Given the description of an element on the screen output the (x, y) to click on. 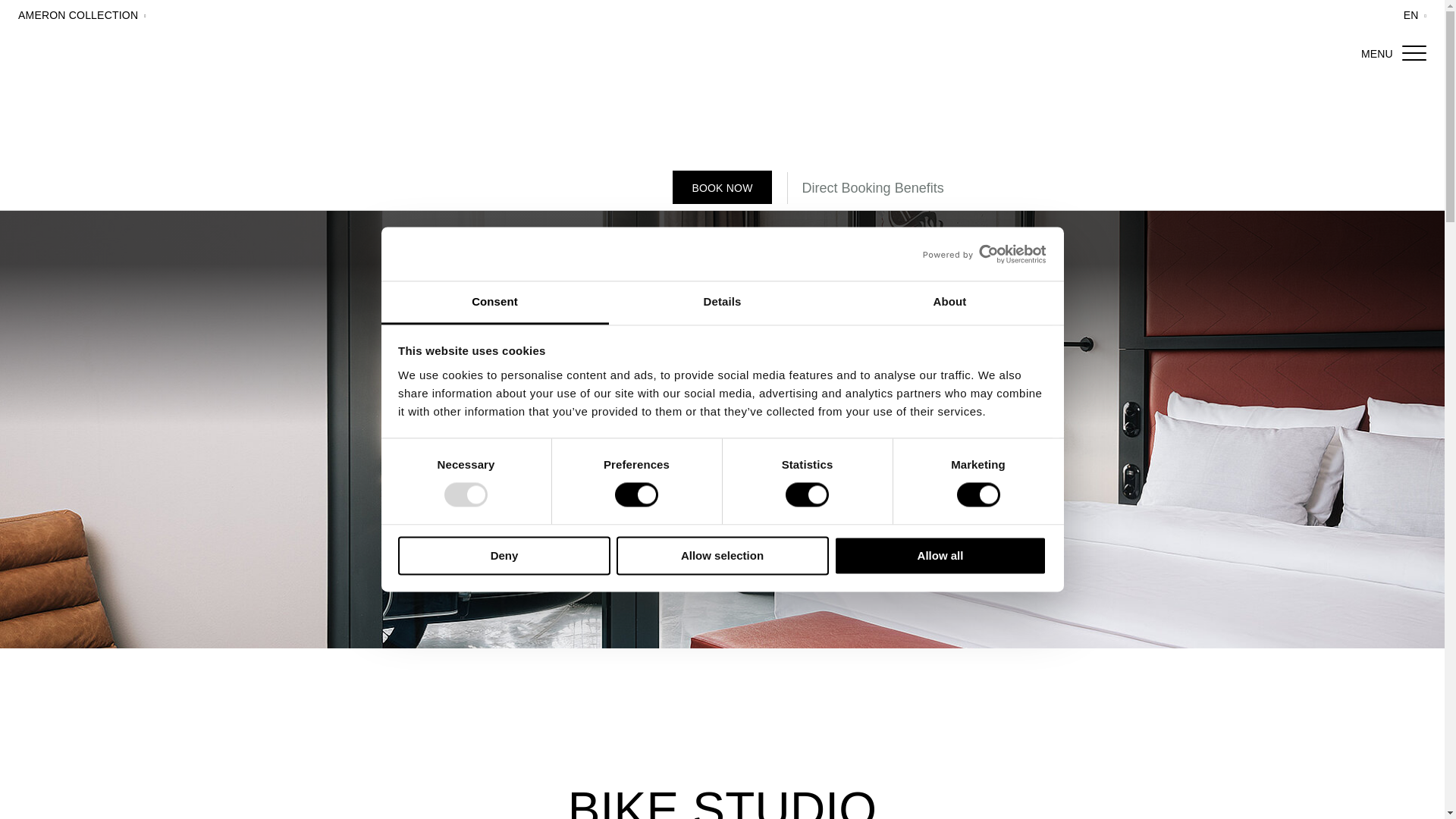
Details (721, 302)
Consent (494, 302)
About (948, 302)
